Given the description of an element on the screen output the (x, y) to click on. 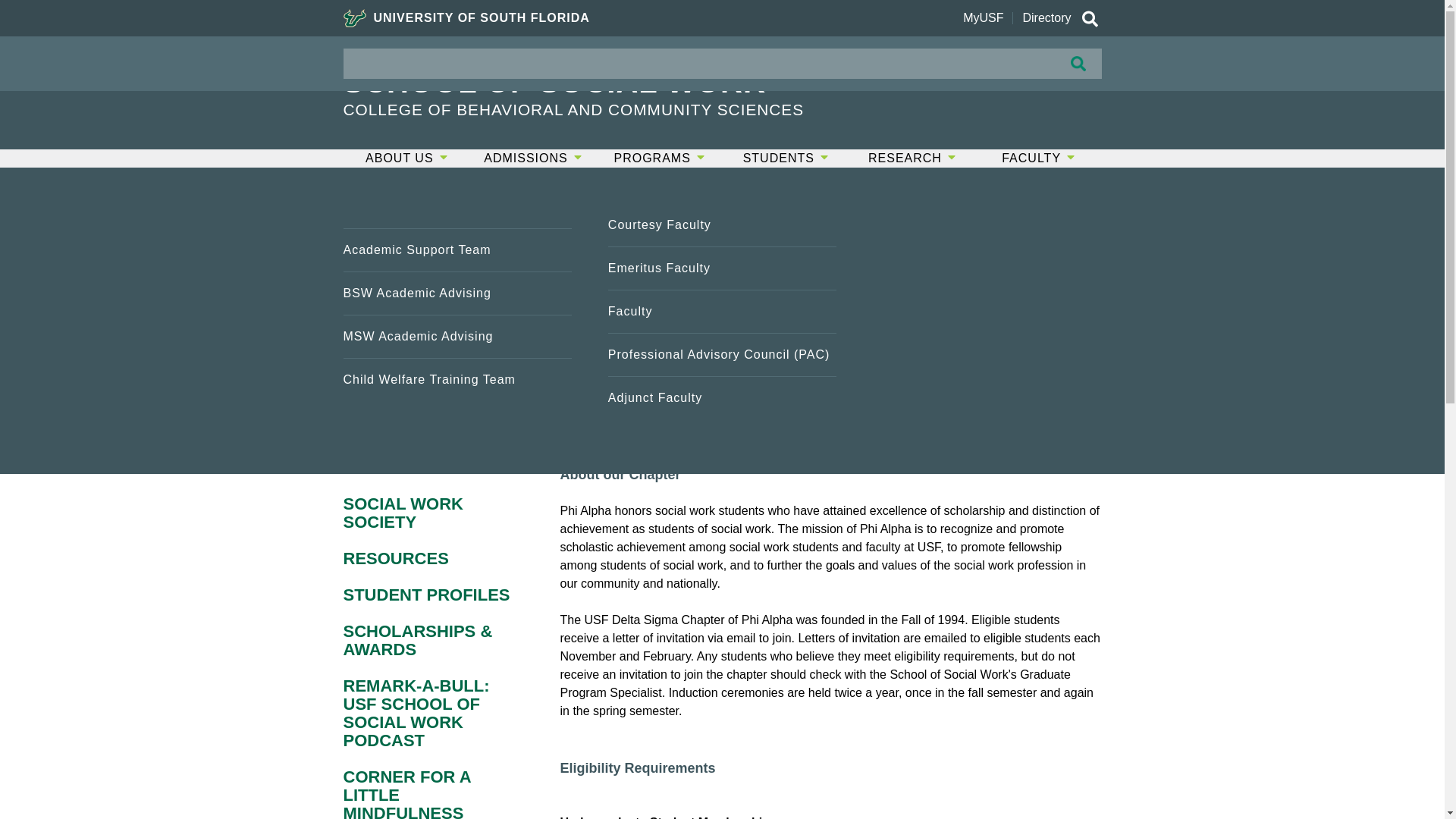
Community Partners (721, 268)
Overview (456, 224)
GIVE NOW (1039, 69)
Remark-A-Bull Podcast (986, 224)
Contact Us (456, 397)
Online Master of Social Work (456, 415)
Adjunct Teaching Opportunities (721, 354)
Donate (721, 224)
Mission (456, 311)
Welcome from Our Director (456, 268)
Child Welfare Training Education (721, 397)
COLLEGE OF BEHAVIORAL AND COMMUNITY SCIENCES (607, 109)
SCHOOL OF SOCIAL WORK (607, 81)
Alumni (721, 311)
UNIVERSITY OF SOUTH FLORIDA (465, 18)
